Given the description of an element on the screen output the (x, y) to click on. 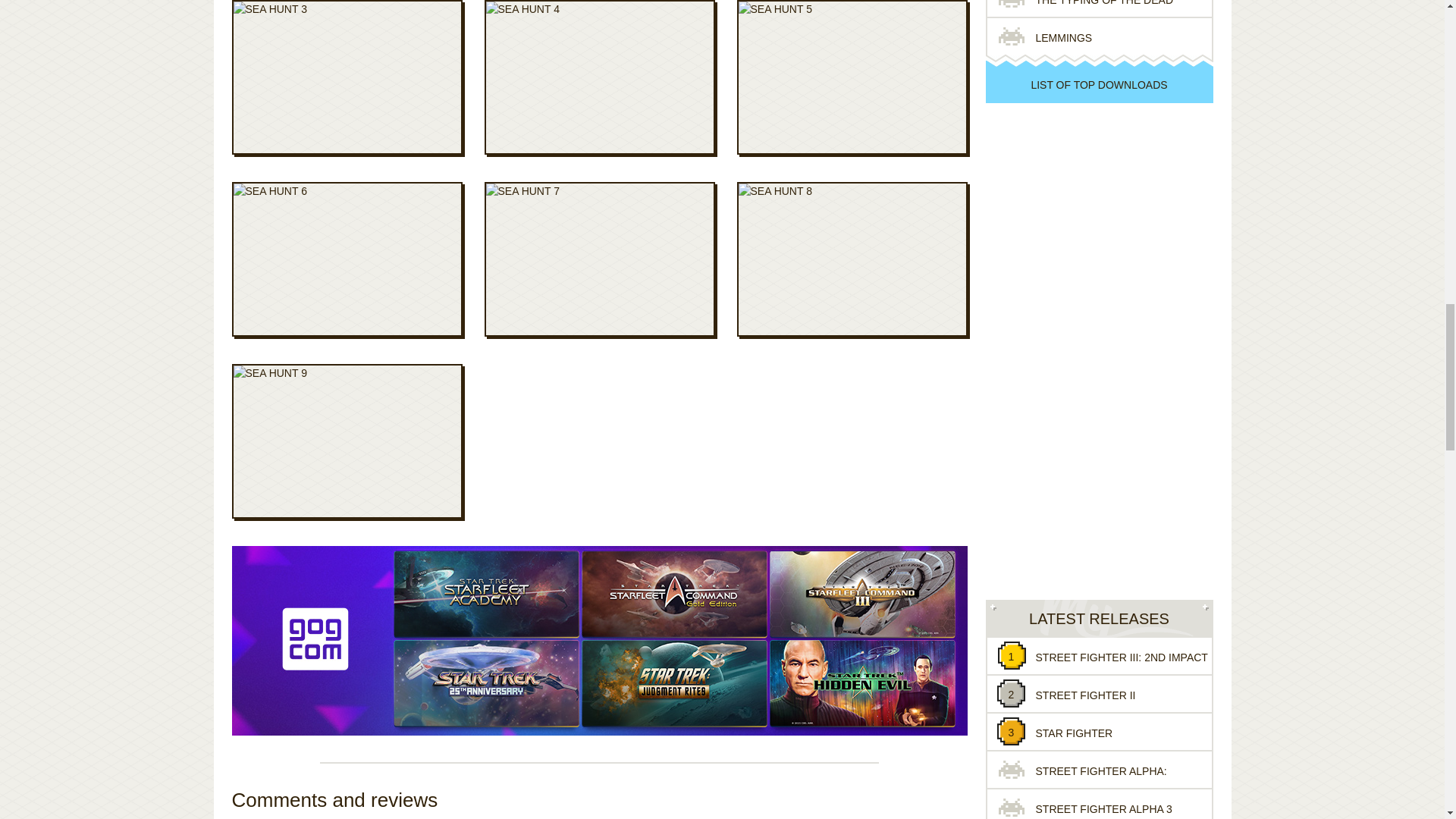
See the Top 40 Games (1098, 84)
